Given the description of an element on the screen output the (x, y) to click on. 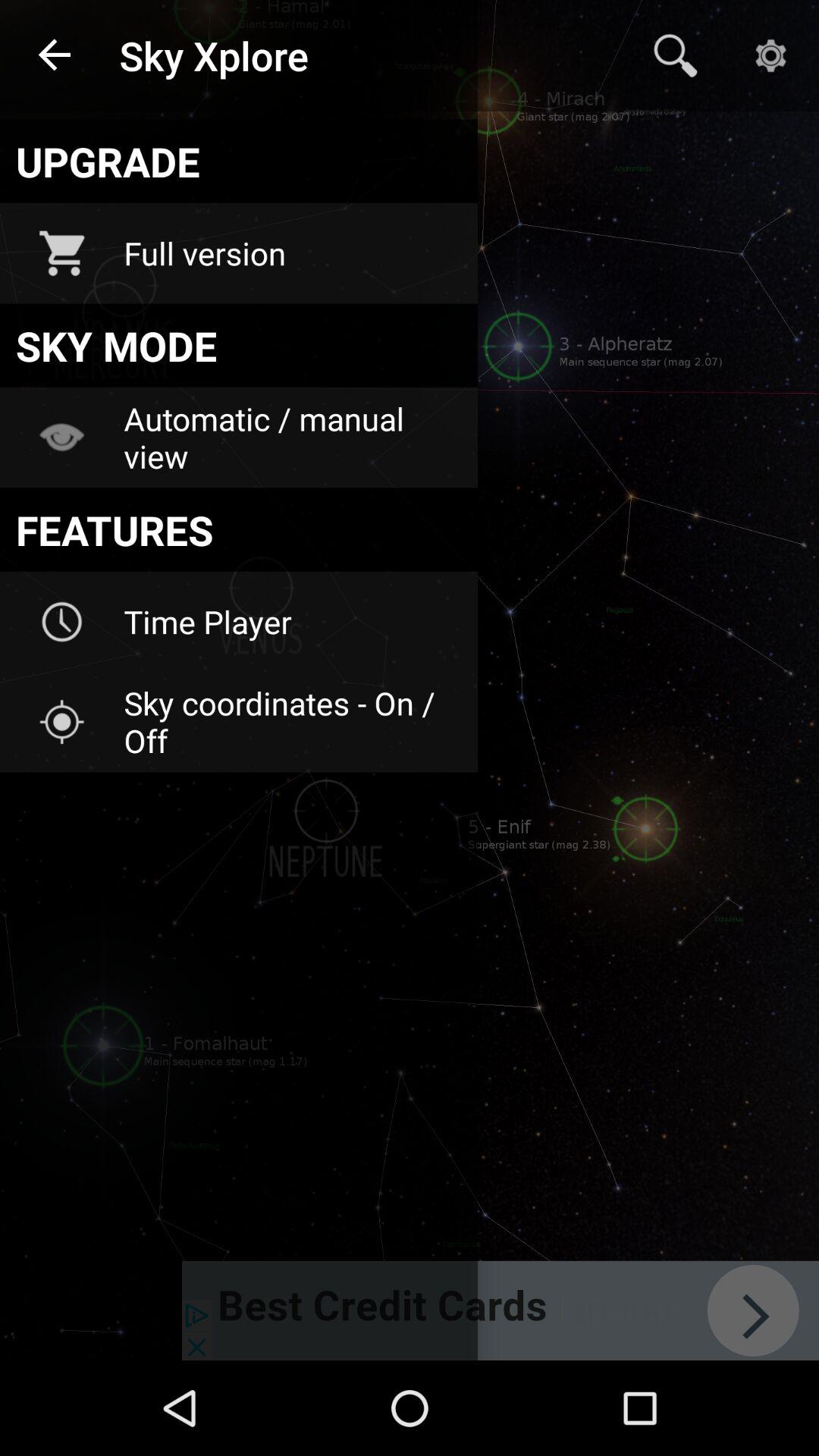
open advertisement (500, 1310)
